Given the description of an element on the screen output the (x, y) to click on. 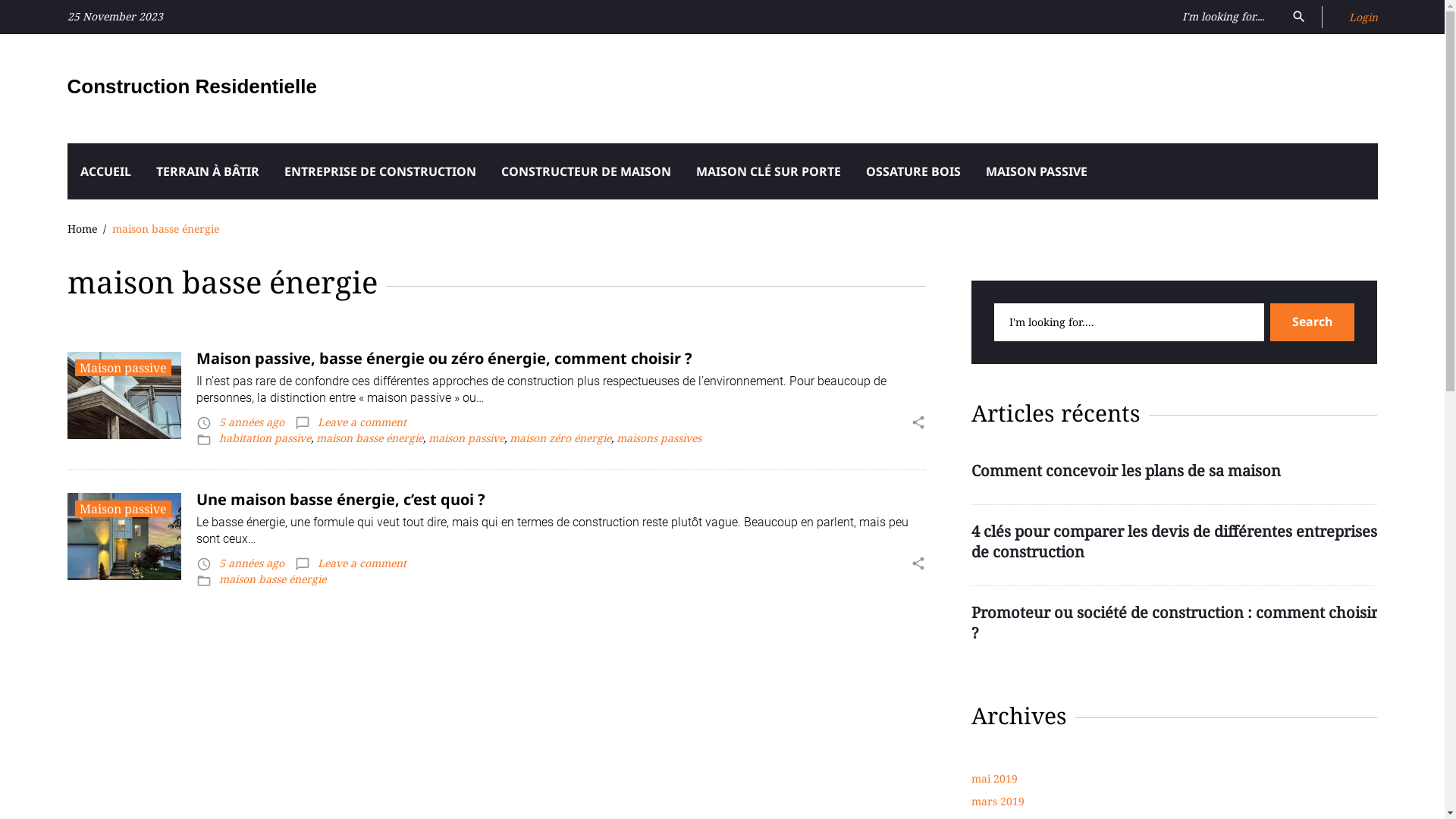
Construction Residentielle Element type: text (191, 86)
Home Element type: text (81, 228)
Login Element type: text (1362, 16)
Maison passive Element type: text (122, 367)
Search for: Element type: hover (1128, 322)
ENTREPRISE DE CONSTRUCTION Element type: text (380, 171)
CONSTRUCTEUR DE MAISON Element type: text (586, 171)
maisons passives Element type: text (657, 437)
Leave a comment Element type: text (360, 562)
ACCUEIL Element type: text (104, 171)
Comment concevoir les plans de sa maison Element type: text (1125, 470)
Search for: Element type: hover (1227, 17)
Skip to content Element type: text (0, 0)
OSSATURE BOIS Element type: text (912, 171)
mai 2019 Element type: text (993, 777)
Maison passive Element type: text (122, 508)
search Element type: text (1298, 15)
Leave a comment Element type: text (360, 421)
MAISON PASSIVE Element type: text (1035, 171)
Search Element type: text (1312, 322)
mars 2019 Element type: text (996, 800)
habitation passive Element type: text (264, 437)
maison passive Element type: text (465, 437)
